Given the description of an element on the screen output the (x, y) to click on. 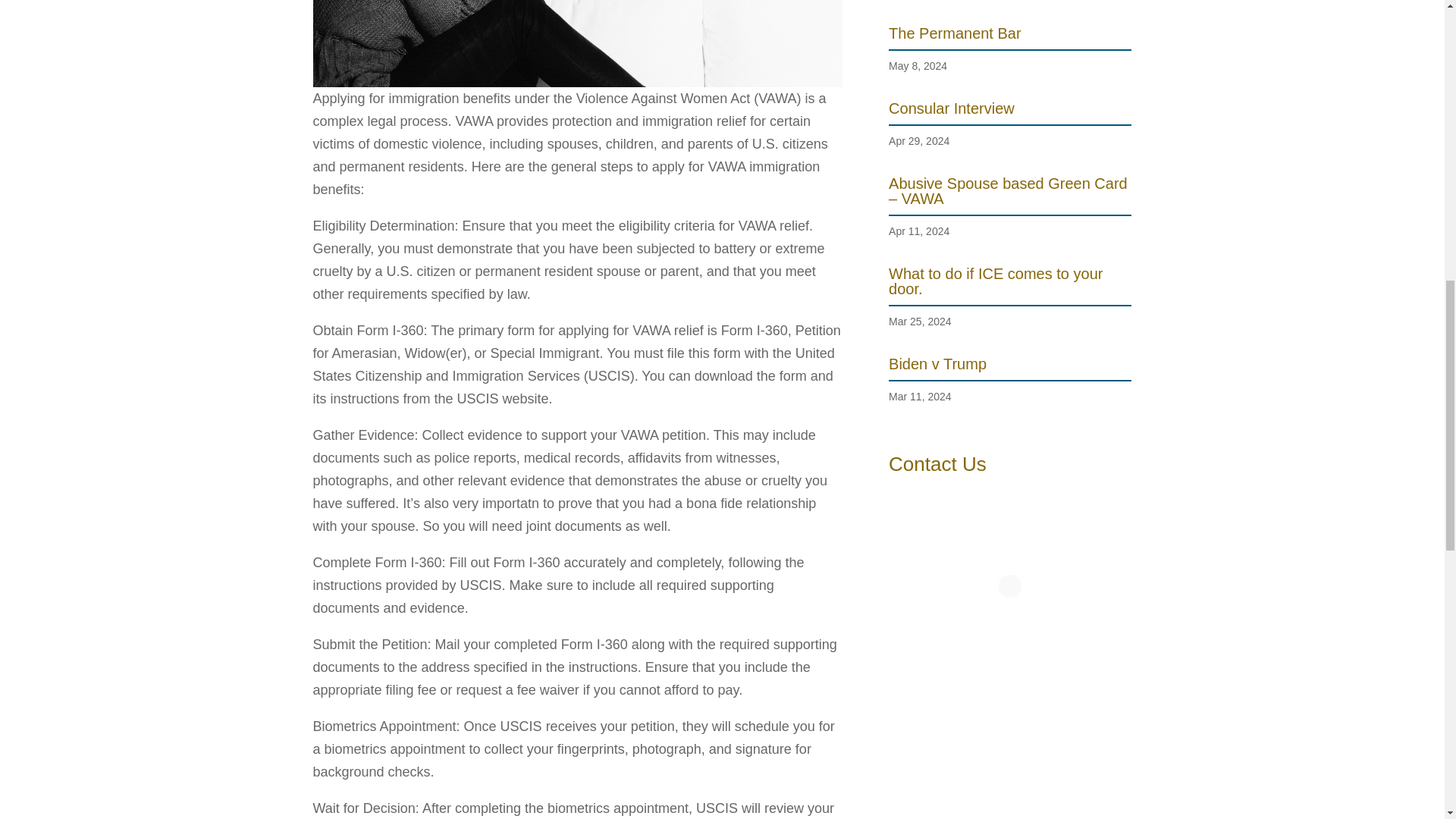
What to do if ICE comes to your door. (995, 281)
Biden v Trump (937, 363)
The Permanent Bar (955, 33)
Consular Interview (951, 108)
